Given the description of an element on the screen output the (x, y) to click on. 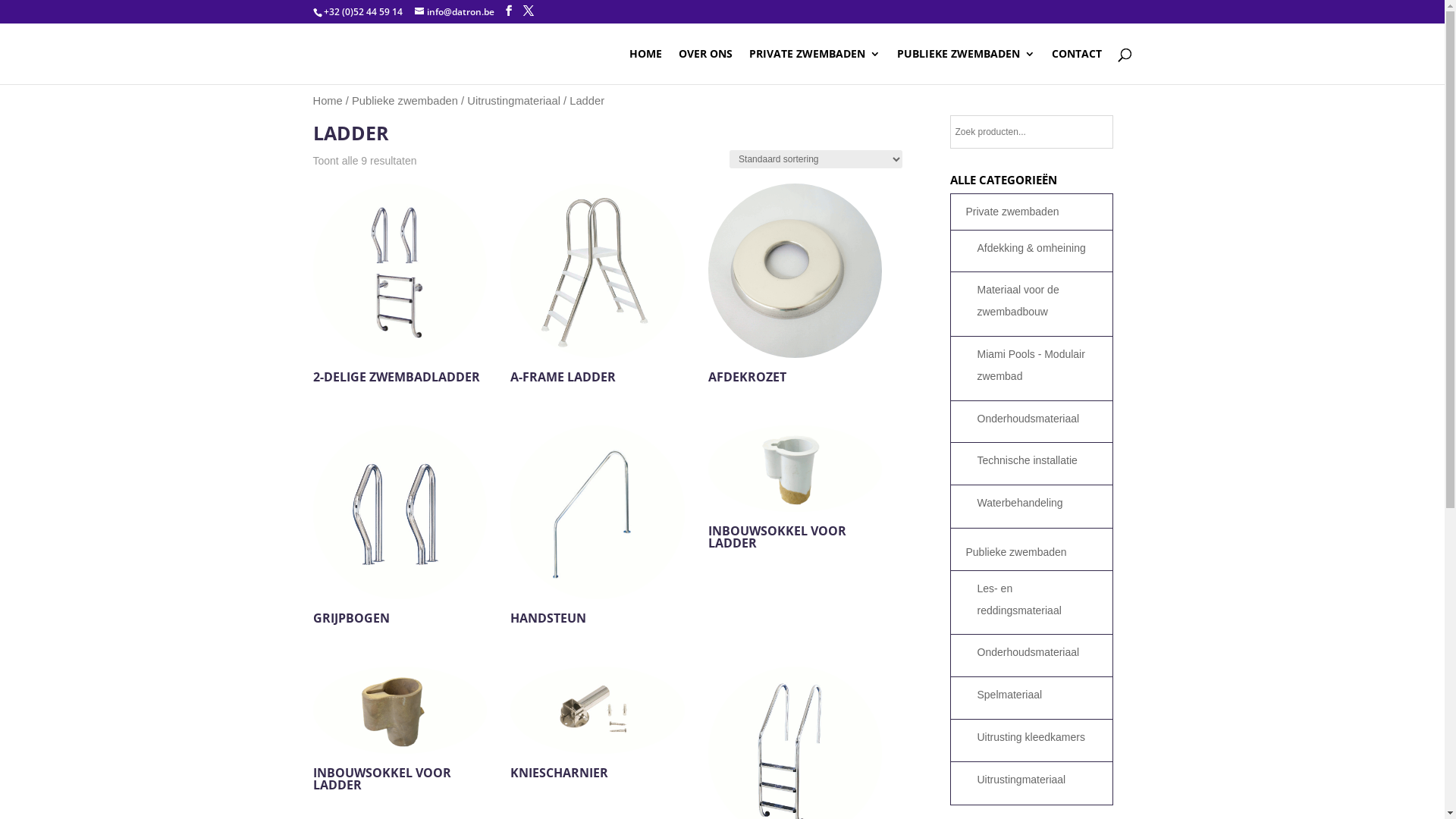
+32 (0)52 44 59 14 Element type: text (362, 11)
Home Element type: text (327, 100)
Miami Pools - Modulair zwembad Element type: text (1036, 365)
INBOUWSOKKEL VOOR LADDER Element type: text (794, 490)
Uitrustingmateriaal Element type: text (1036, 779)
INBOUWSOKKEL VOOR LADDER Element type: text (399, 731)
OVER ONS Element type: text (704, 66)
CONTACT Element type: text (1076, 66)
2-DELIGE ZWEMBADLADDER Element type: text (399, 285)
A-FRAME LADDER Element type: text (597, 285)
Les- en reddingsmateriaal Element type: text (1036, 599)
Waterbehandeling Element type: text (1036, 502)
Afdekking & omheining Element type: text (1036, 247)
HOME Element type: text (645, 66)
Onderhoudsmateriaal Element type: text (1036, 418)
PUBLIEKE ZWEMBADEN Element type: text (965, 66)
GRIJPBOGEN Element type: text (399, 527)
Publieke zwembaden Element type: text (1031, 552)
AFDEKROZET Element type: text (794, 285)
Technische installatie Element type: text (1036, 460)
Materiaal voor de zwembadbouw Element type: text (1036, 300)
Publieke zwembaden Element type: text (404, 100)
Private zwembaden Element type: text (1031, 211)
HANDSTEUN Element type: text (597, 527)
PRIVATE ZWEMBADEN Element type: text (814, 66)
info@datron.be Element type: text (453, 11)
Uitrustingmateriaal Element type: text (513, 100)
Uitrusting kleedkamers Element type: text (1036, 737)
KNIESCHARNIER Element type: text (597, 725)
Spelmateriaal Element type: text (1036, 694)
Onderhoudsmateriaal Element type: text (1036, 652)
